Given the description of an element on the screen output the (x, y) to click on. 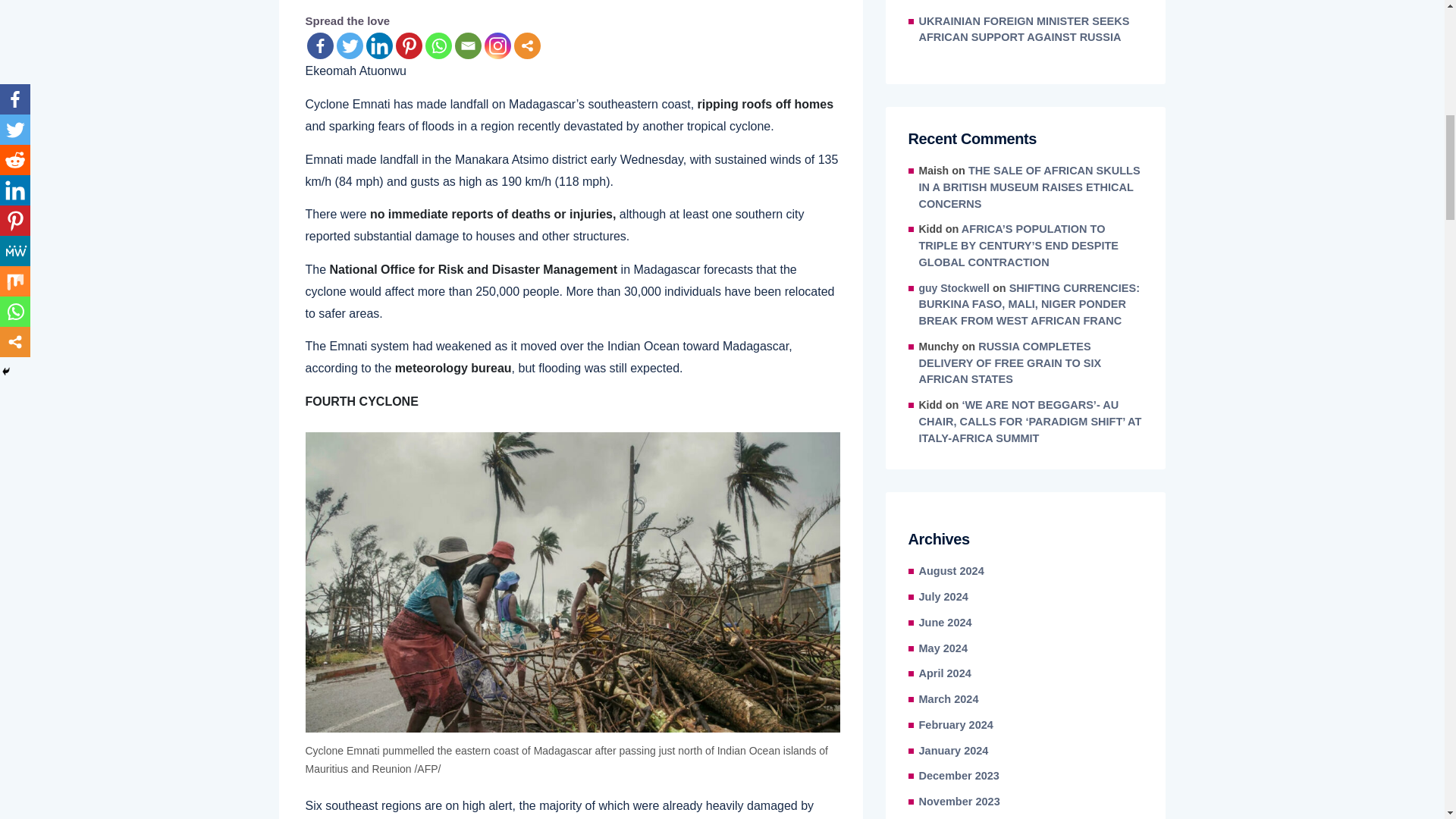
Instagram (497, 45)
LinkedIn (378, 45)
Email (467, 45)
Pinterest (409, 45)
Twitter (349, 45)
Whatsapp (438, 45)
Facebook (319, 45)
More (526, 45)
